Given the description of an element on the screen output the (x, y) to click on. 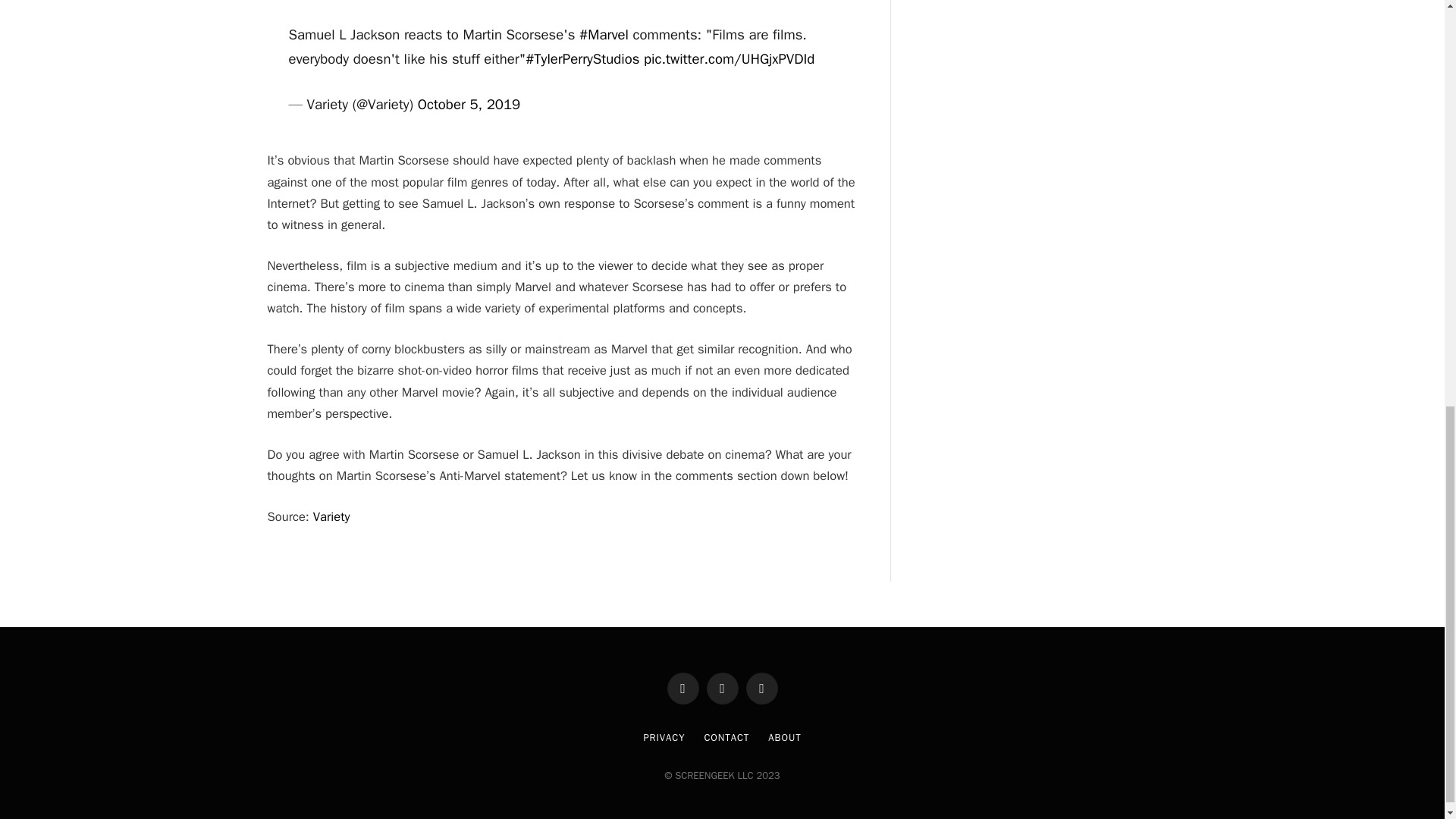
Instagram (761, 688)
October 5, 2019 (468, 104)
Facebook (682, 688)
ABOUT (784, 737)
CONTACT (726, 737)
Variety (331, 516)
PRIVACY (663, 737)
